Given the description of an element on the screen output the (x, y) to click on. 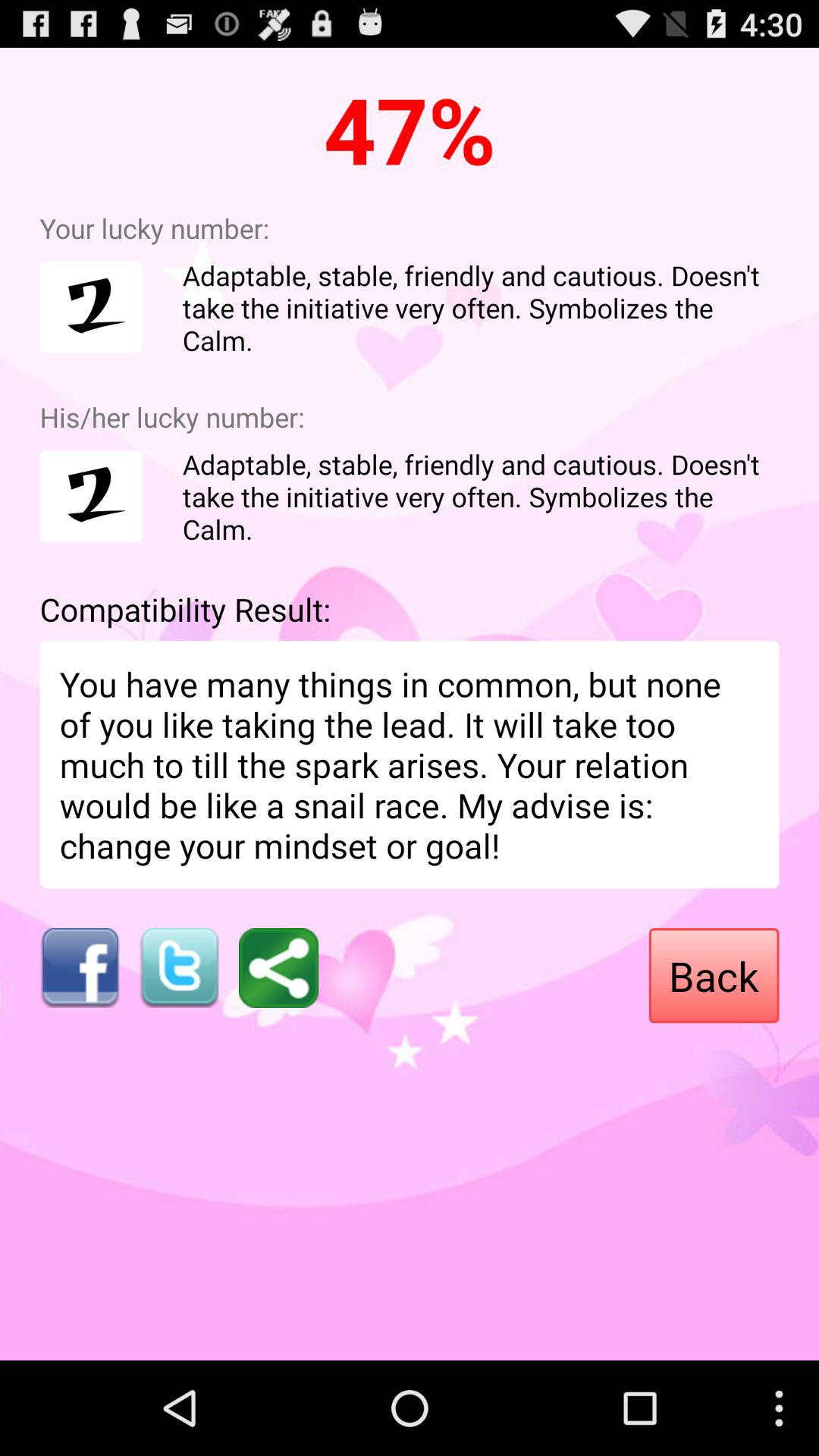
open button at the bottom right corner (713, 975)
